Given the description of an element on the screen output the (x, y) to click on. 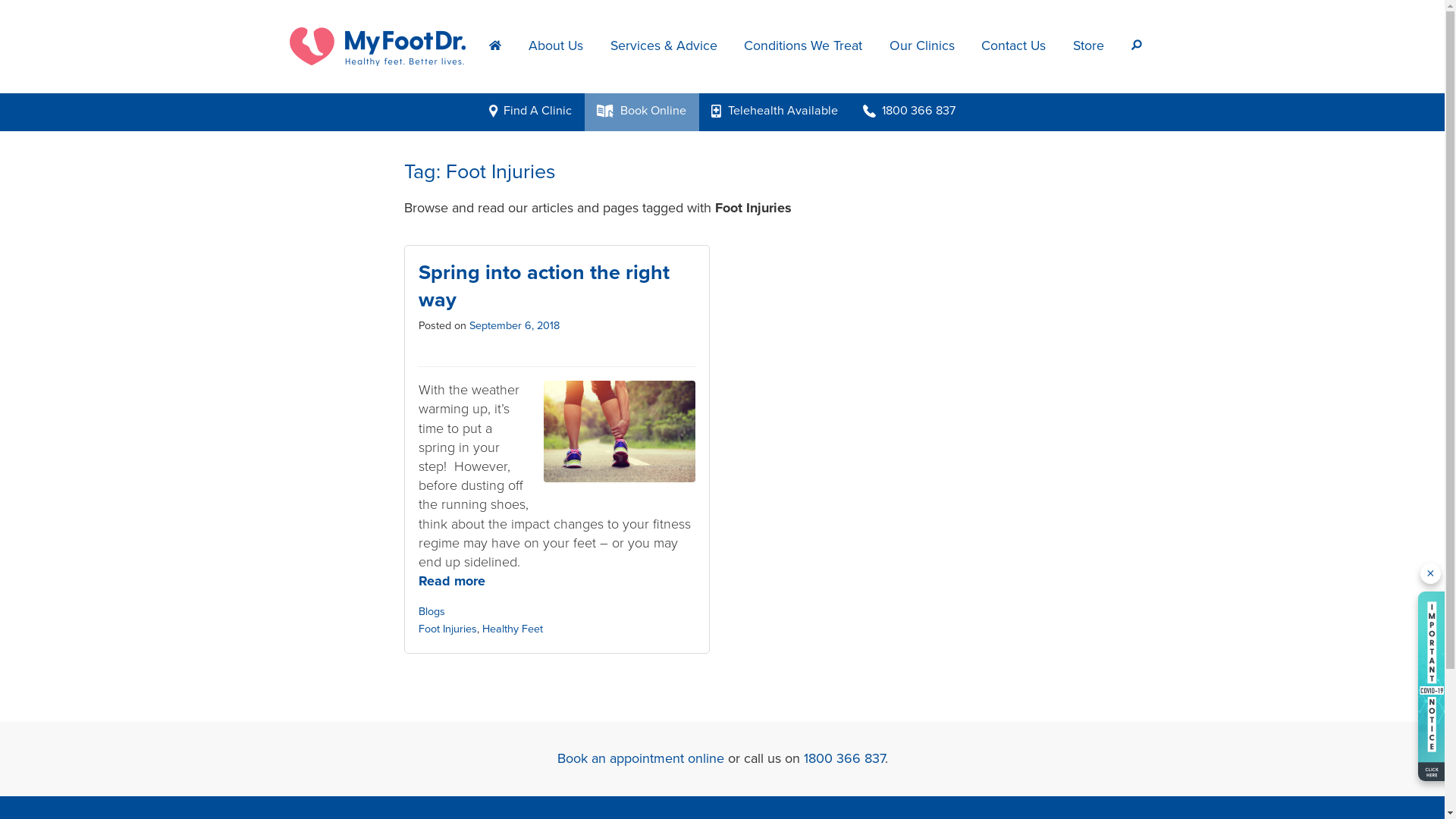
Contact Us Element type: text (1014, 46)
Services & Advice Element type: text (663, 46)
Book an appointment online Element type: text (639, 757)
k Book
Online Element type: text (641, 112)
1800 366 837 Element type: text (843, 757)
Blogs Element type: text (431, 611)
Healthy Feet Element type: text (512, 628)
Our Clinics Element type: text (921, 46)
i Find A
Clinic Element type: text (529, 112)
Conditions We Treat Element type: text (802, 46)
My FootDr - Healthy feet. Better lives. Element type: hover (382, 45)
My FootDr - Healthy feet. Better lives. Element type: hover (377, 46)
Spring into action the right way Element type: text (543, 285)
p Telehealth
Available Element type: text (774, 112)
Store Element type: text (1088, 46)
September 6, 2018 Element type: text (513, 325)
h Element type: text (495, 46)
Foot Injuries Element type: text (447, 628)
Read more Element type: text (556, 580)
b 1800
366 837 Element type: text (908, 112)
s Element type: text (1136, 46)
Ruunner_Foot pain_women_podaitrist Element type: hover (619, 430)
About Us Element type: text (555, 46)
